Given the description of an element on the screen output the (x, y) to click on. 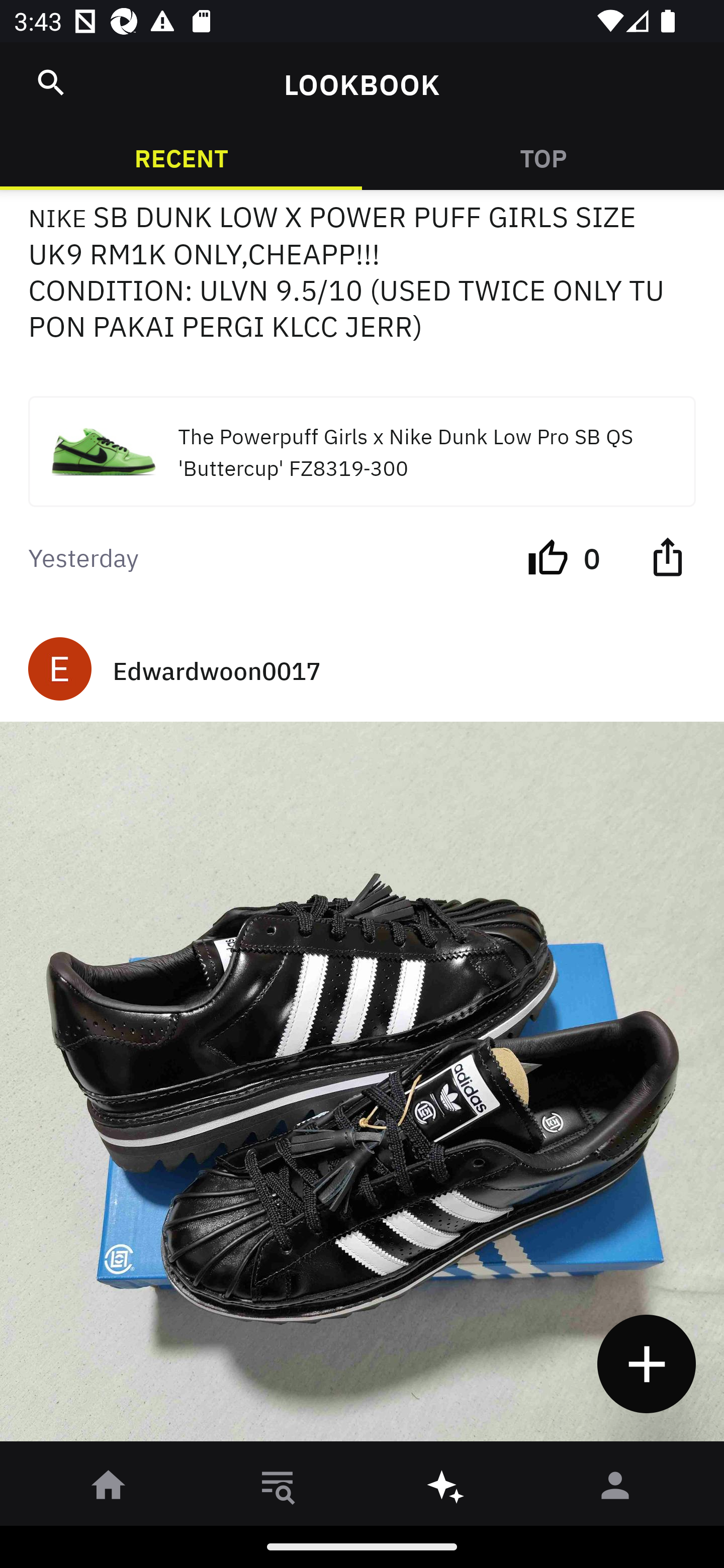
 (51, 82)
RECENT (181, 156)
TOP (543, 156)
󰔔 (547, 556)
 (667, 556)
󰋜 (108, 1488)
󱎸 (277, 1488)
󰫢 (446, 1488)
󰀄 (615, 1488)
